Given the description of an element on the screen output the (x, y) to click on. 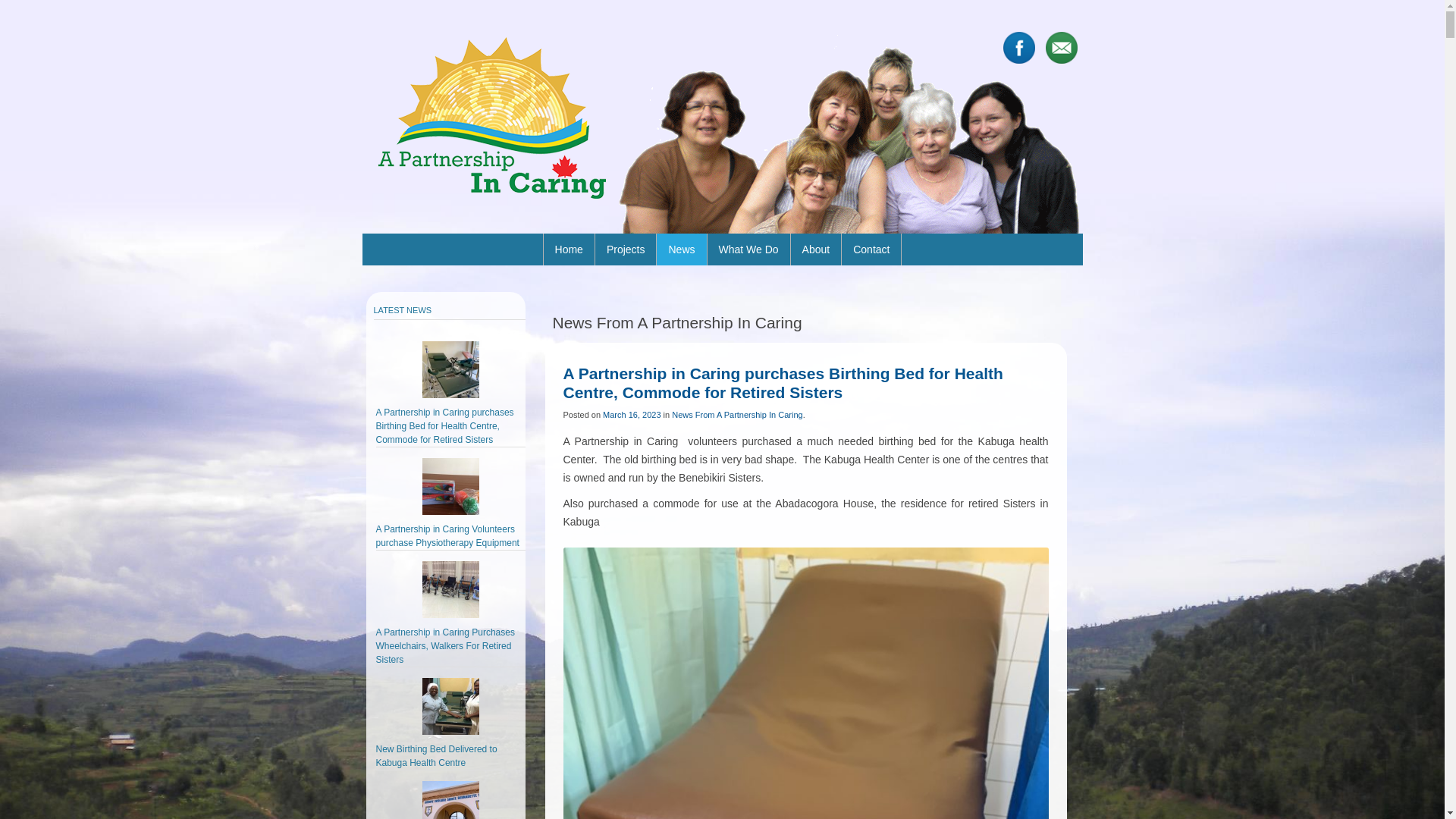
Email A Partnership In Caring Element type: hover (1060, 47)
New Birthing Bed Delivered to Kabuga Health Centre Element type: text (436, 755)
What We Do Element type: text (747, 249)
About Element type: text (815, 249)
Projects Element type: text (625, 249)
Contact Element type: text (870, 249)
Home Element type: text (568, 249)
March 16, 2023 Element type: text (631, 414)
News From A Partnership In Caring Element type: text (736, 414)
Skip to content Element type: text (759, 238)
Follow A Partnership In Caring on Facebook Element type: hover (1018, 47)
A Partnership In Caring Element type: hover (491, 117)
News Element type: text (681, 249)
